Given the description of an element on the screen output the (x, y) to click on. 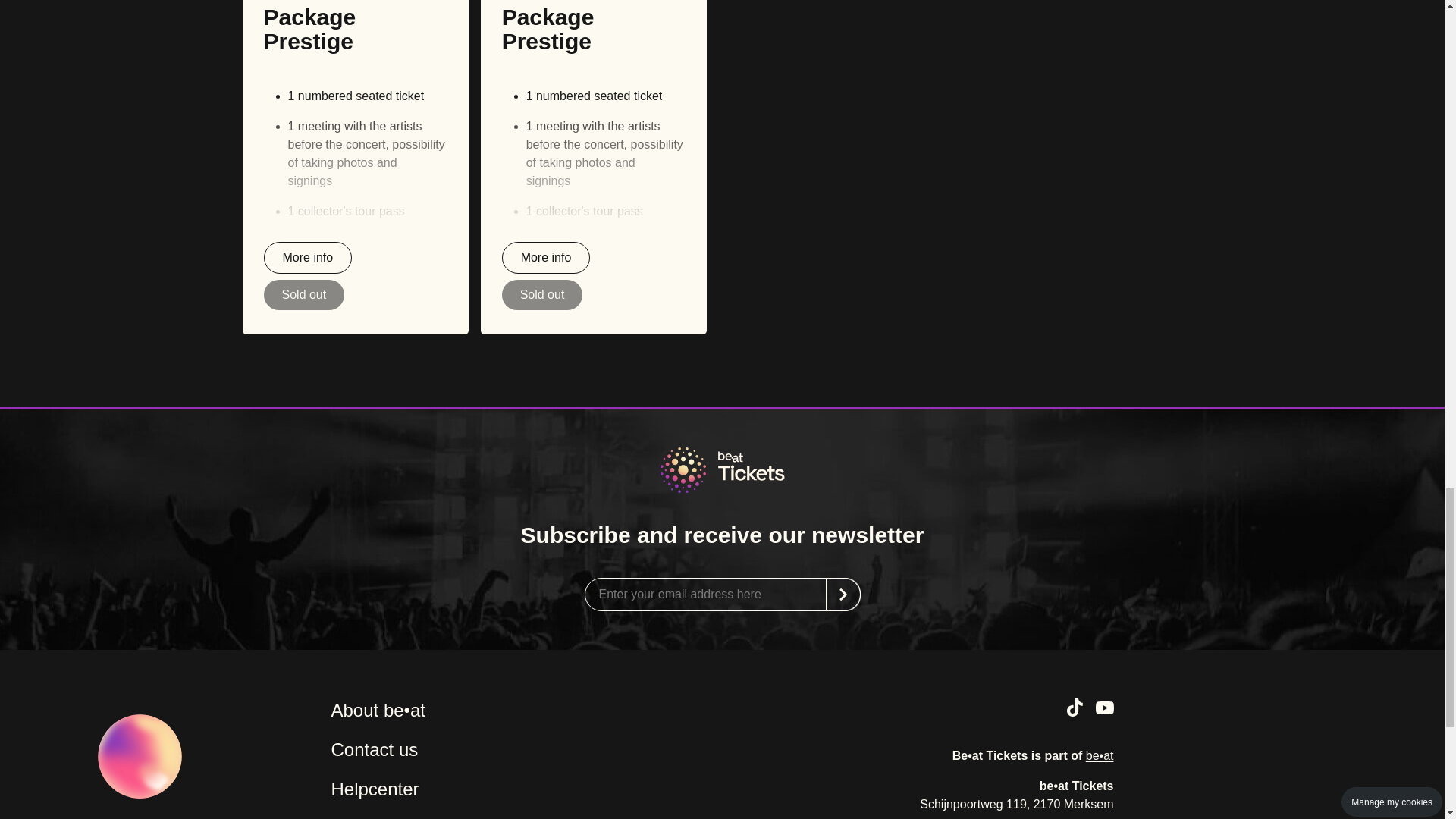
Helpcenter (374, 788)
Sold out (304, 294)
Sold out (542, 294)
More info (546, 256)
Contact us (373, 749)
More info (307, 256)
